Given the description of an element on the screen output the (x, y) to click on. 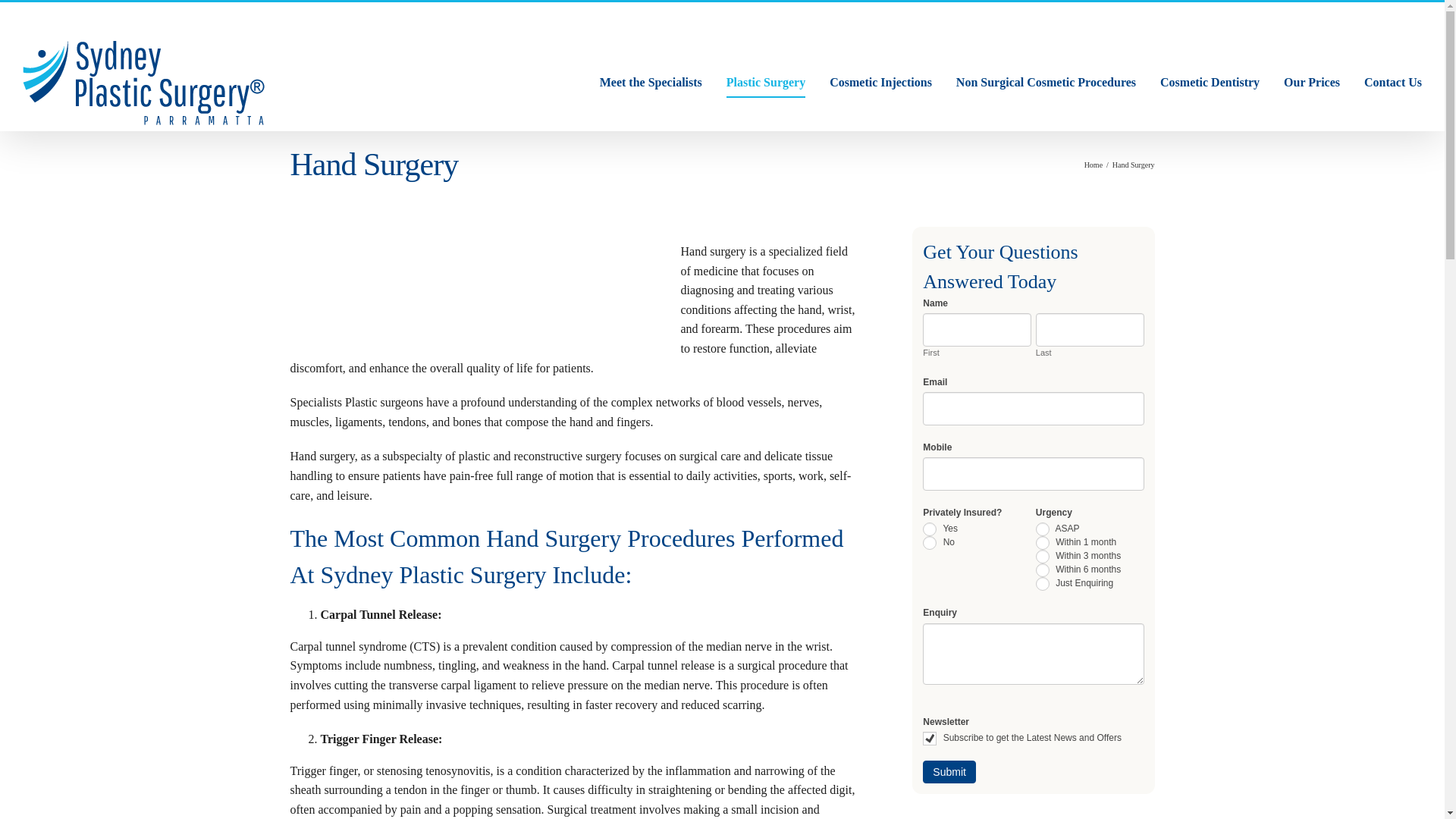
Within 6 months (1042, 570)
Yes (929, 529)
Meet the Specialists (650, 82)
Plastic Surgery (765, 82)
Subscribe to get the Latest News and Offers (929, 738)
Within 1 month (1042, 542)
Just Enquiring (1042, 583)
ASAP (1042, 529)
Within 3 months (1042, 556)
Submit (949, 771)
